Given the description of an element on the screen output the (x, y) to click on. 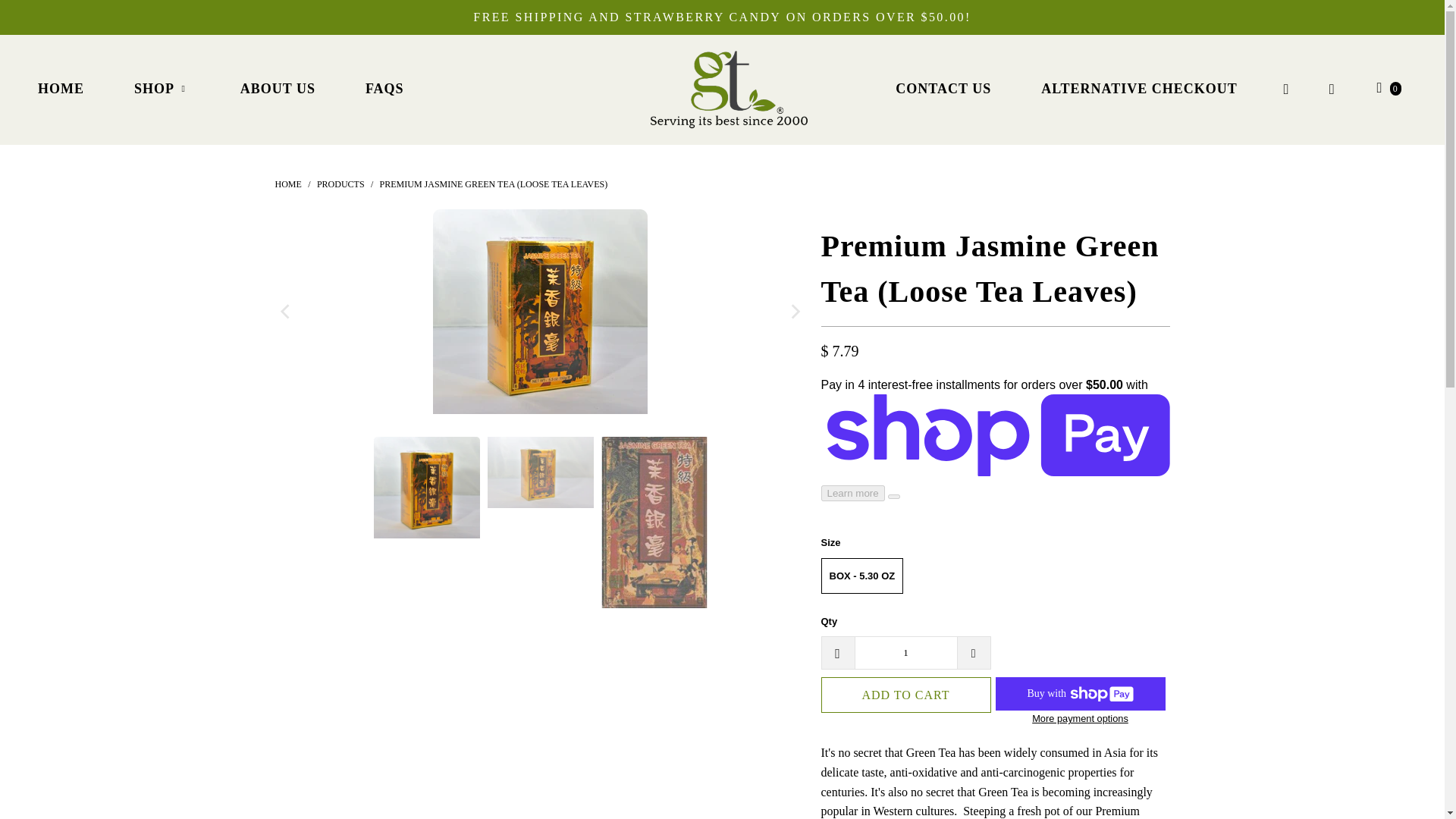
GT - GoTo Tea by New Midori Trading Inc. (729, 89)
GT - GoTo Tea by New Midori Trading Inc. (288, 184)
Products (341, 184)
My Account  (1332, 89)
1 (904, 652)
Search (1286, 89)
